Given the description of an element on the screen output the (x, y) to click on. 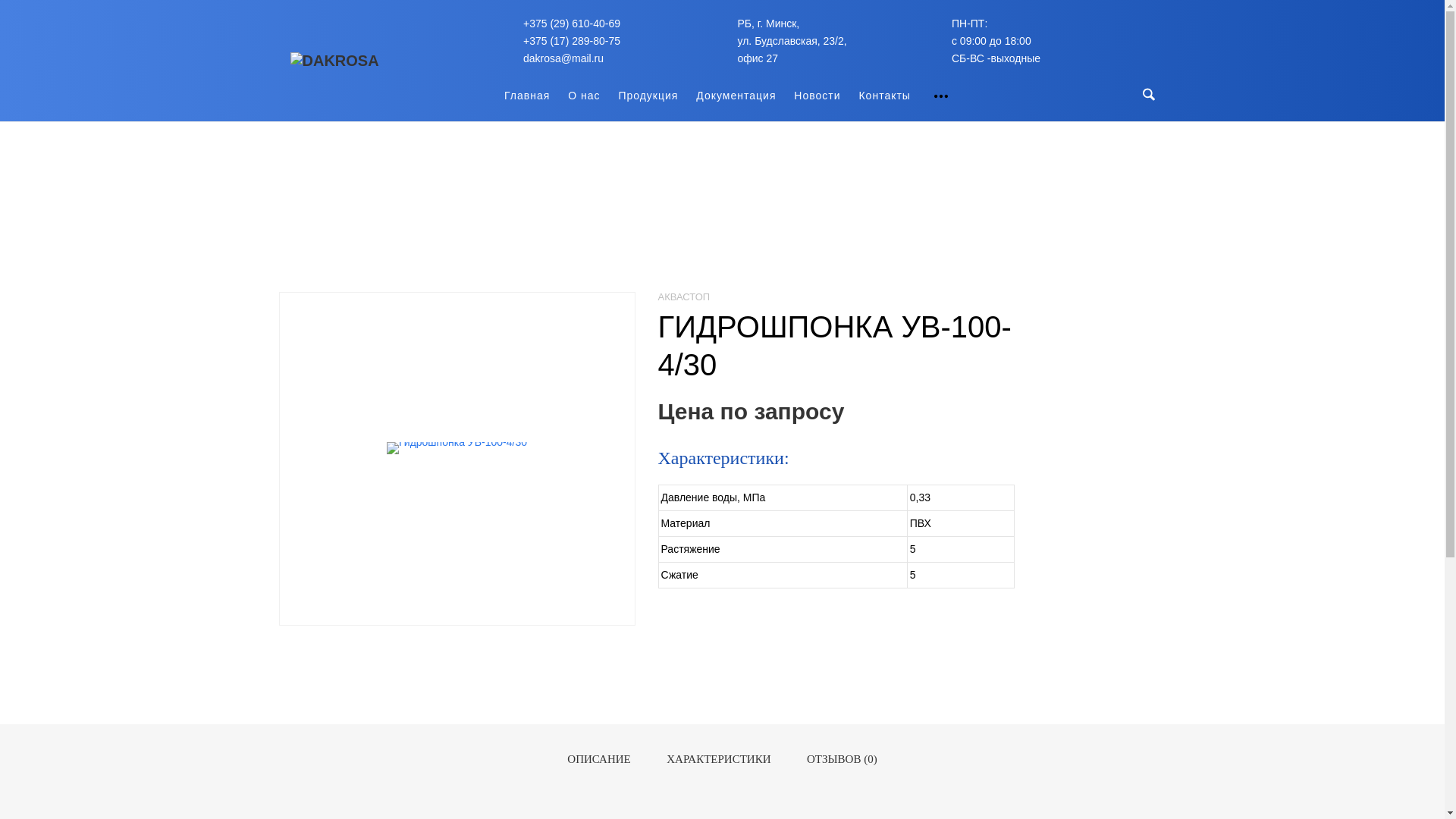
+375 (17) 289-80-75 Element type: text (571, 40)
+375 (29) 610-40-69 Element type: text (571, 23)
dakrosa@mail.ru Element type: text (563, 58)
dakrosa Element type: hover (333, 60)
